Given the description of an element on the screen output the (x, y) to click on. 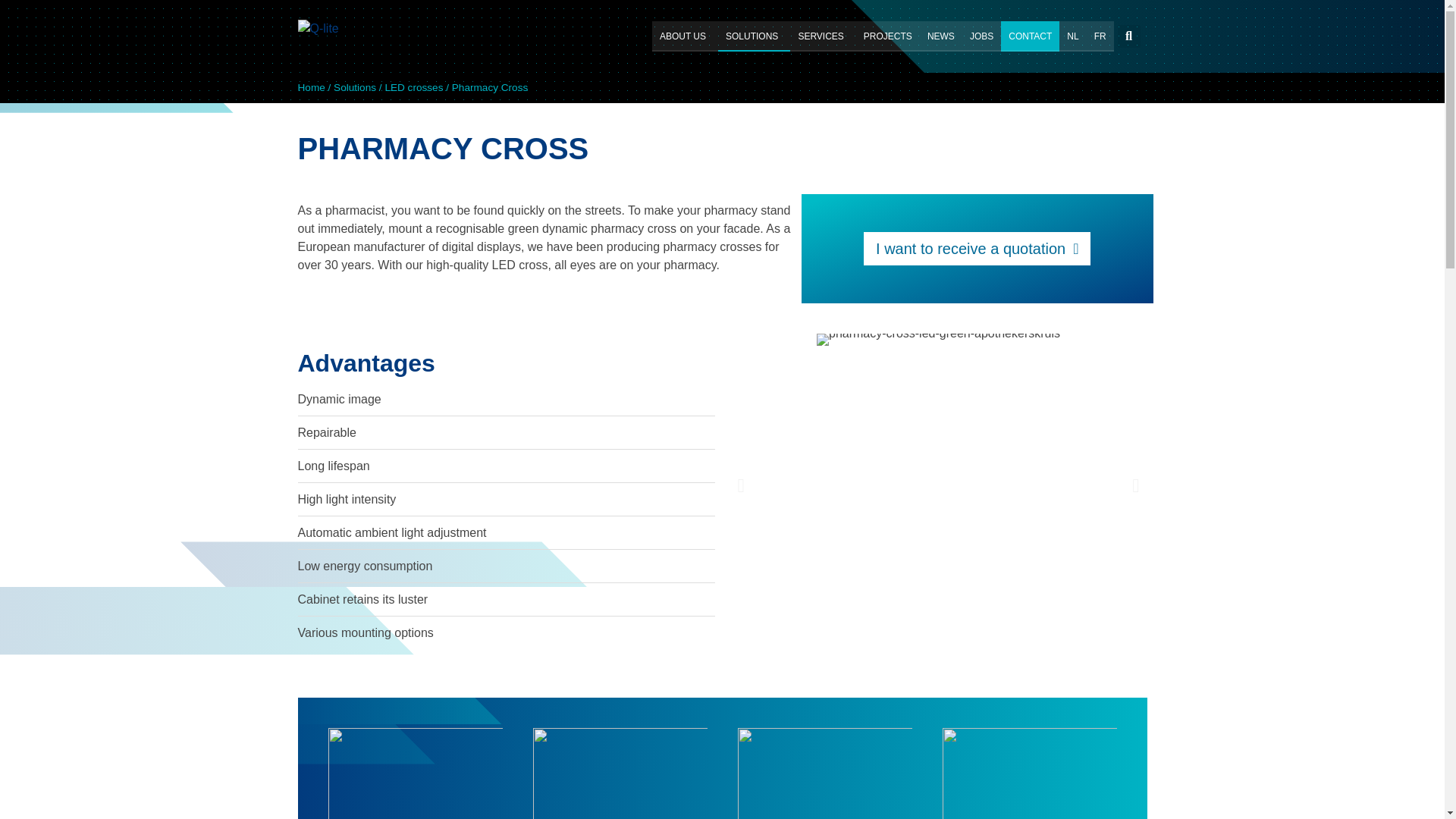
PROJECTS (888, 36)
SERVICES (823, 36)
ABOUT US (684, 36)
CONTACT (1030, 36)
NEWS (941, 36)
FR (1099, 36)
Solutions (354, 87)
JOBS (981, 36)
Home (310, 87)
I want to receive a quotation (976, 248)
